Given the description of an element on the screen output the (x, y) to click on. 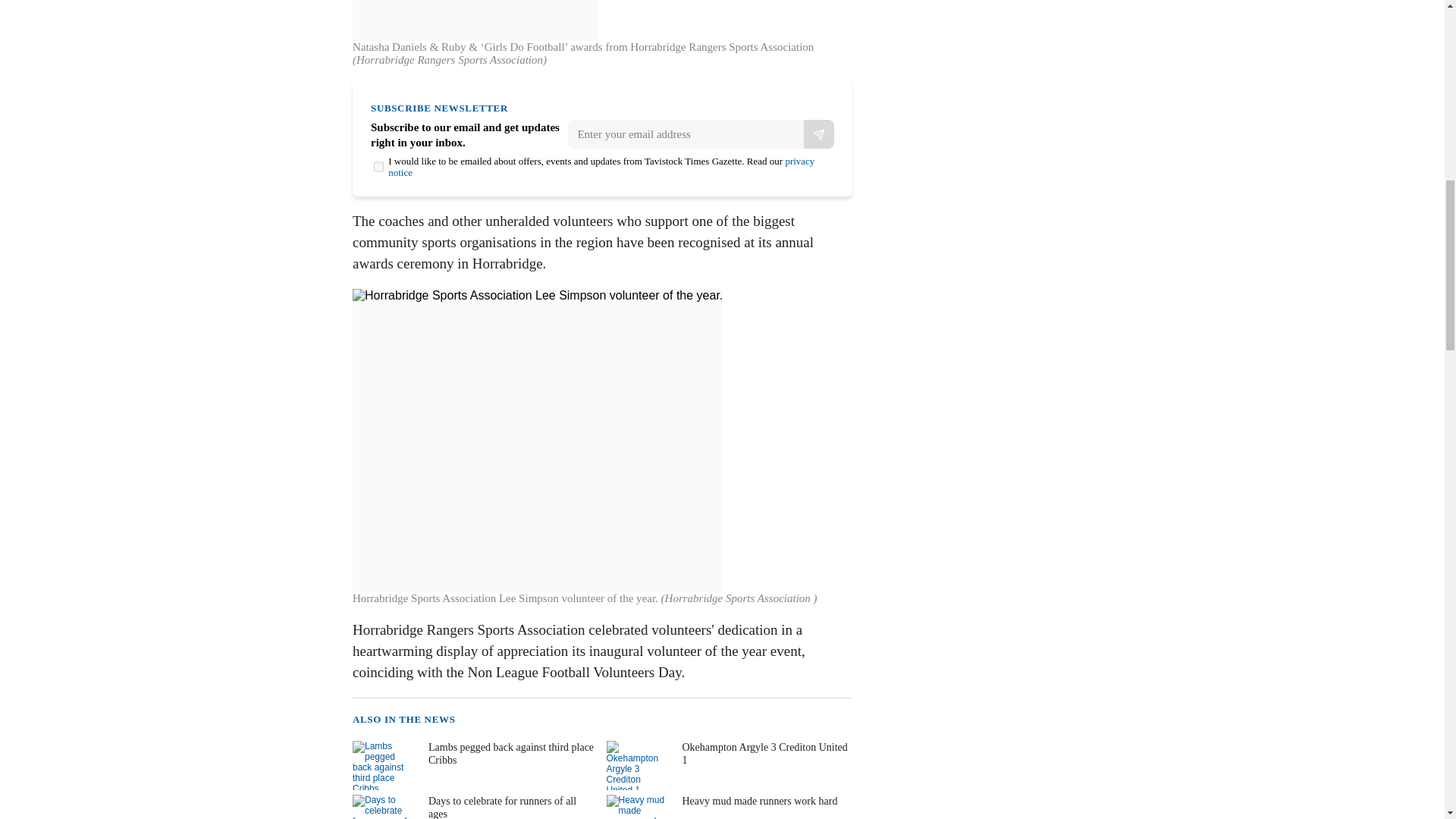
privacy notice (600, 166)
Days to celebrate for runners of all ages (473, 806)
Okehampton Argyle 3 Crediton United 1 (727, 765)
Lambs pegged back against third place Cribbs (473, 765)
Heavy mud made runners work hard (727, 806)
